Given the description of an element on the screen output the (x, y) to click on. 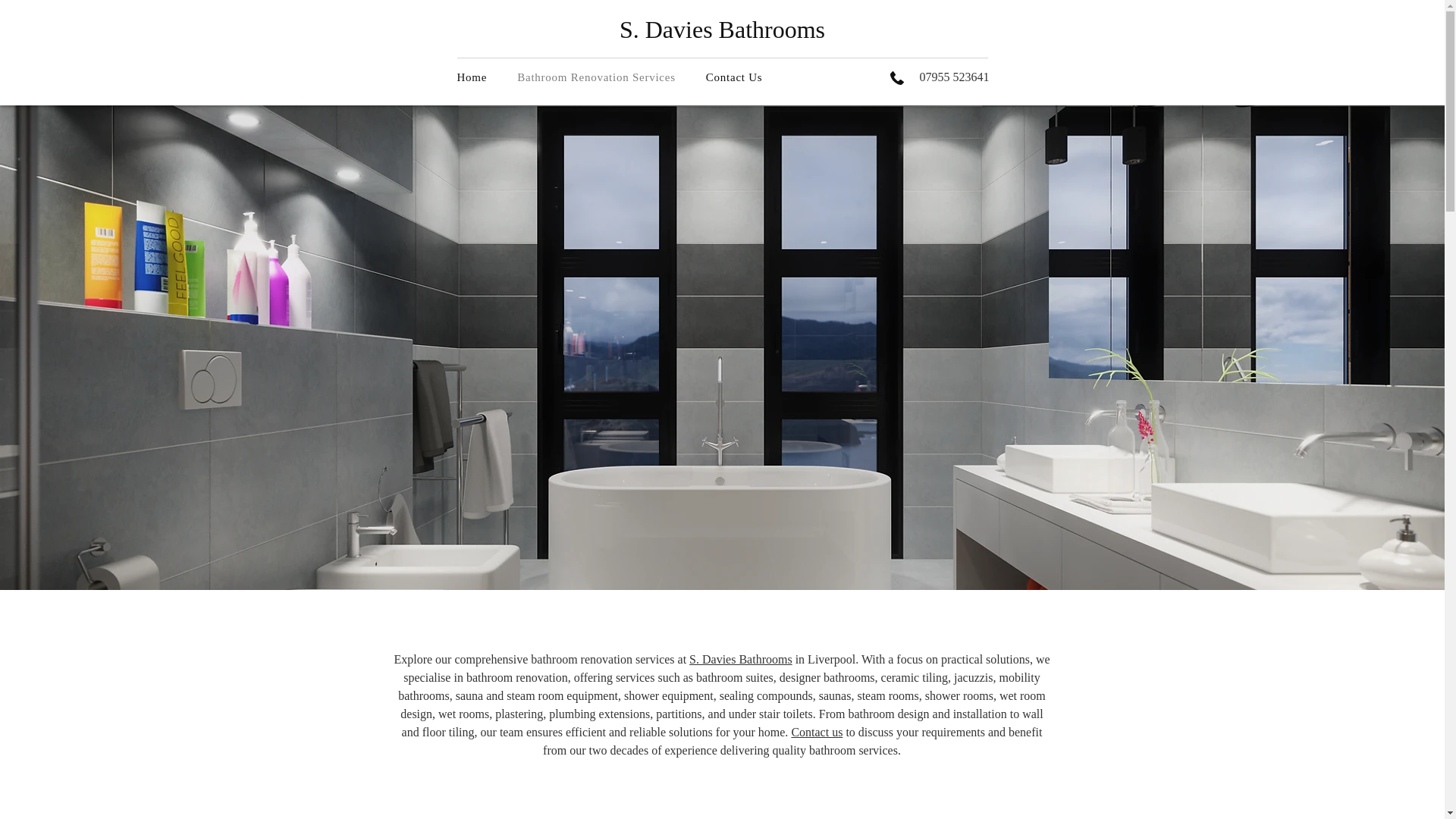
S. Davies Bathrooms (722, 29)
Contact us (816, 731)
Home (484, 77)
S. Davies Bathrooms (740, 658)
Contact Us (621, 77)
Bathroom Renovation Services (746, 77)
